Given the description of an element on the screen output the (x, y) to click on. 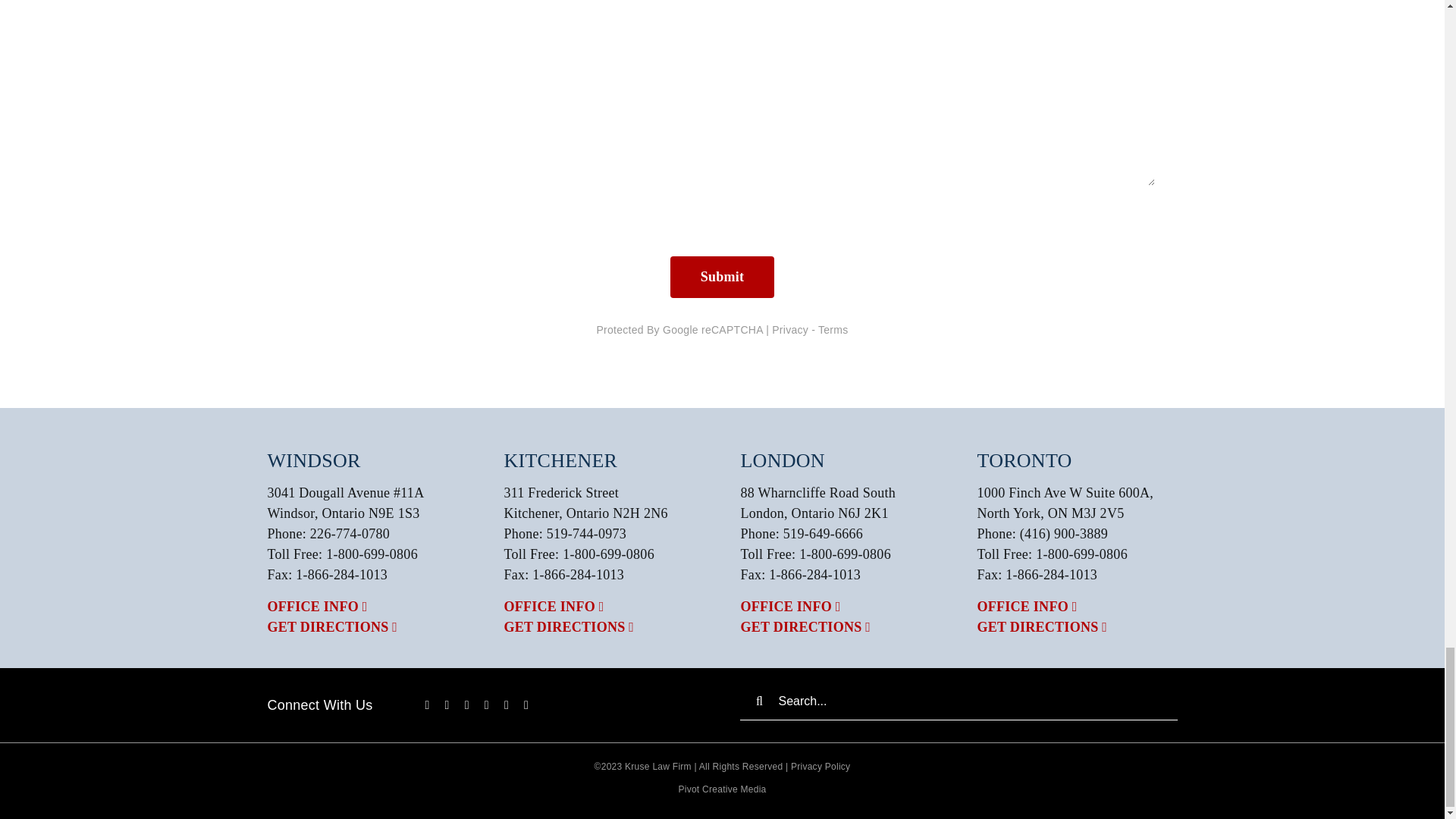
Rss (526, 705)
LinkedIn (505, 705)
Facebook (427, 705)
Tiktok (466, 705)
Twitter (447, 705)
YouTube (486, 705)
